Given the description of an element on the screen output the (x, y) to click on. 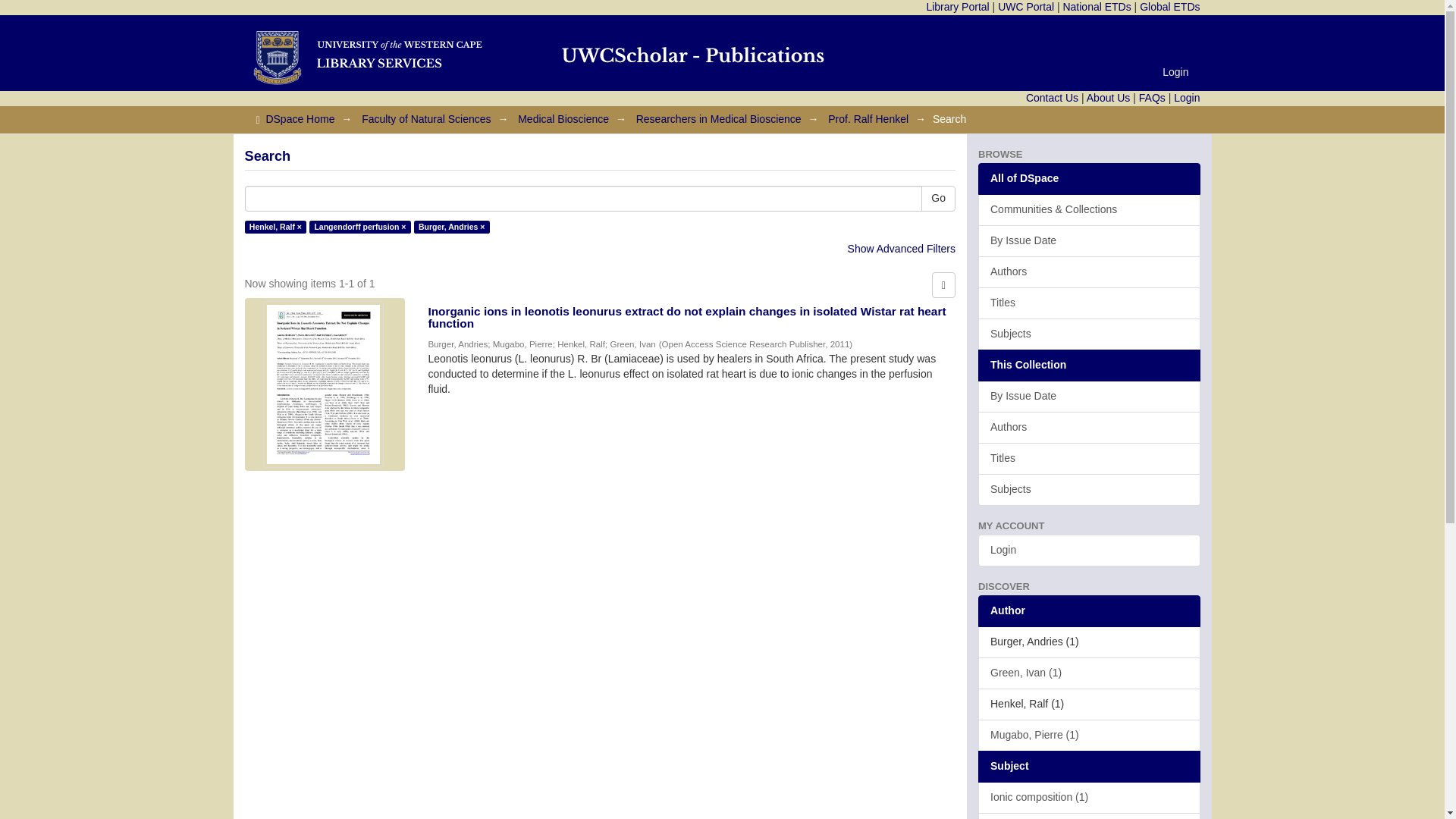
Login (1175, 71)
Login (1186, 97)
DSpace Home (299, 119)
Researchers in Medical Bioscience (719, 119)
Prof. Ralf Henkel (868, 119)
FAQs (1152, 97)
National ETDs (1096, 6)
About Us (1108, 97)
Global ETDs (1169, 6)
Contact Us (1052, 97)
Show Advanced Filters (901, 248)
Go (938, 198)
Faculty of Natural Sciences (425, 119)
UWC Portal (1025, 6)
Medical Bioscience (563, 119)
